Given the description of an element on the screen output the (x, y) to click on. 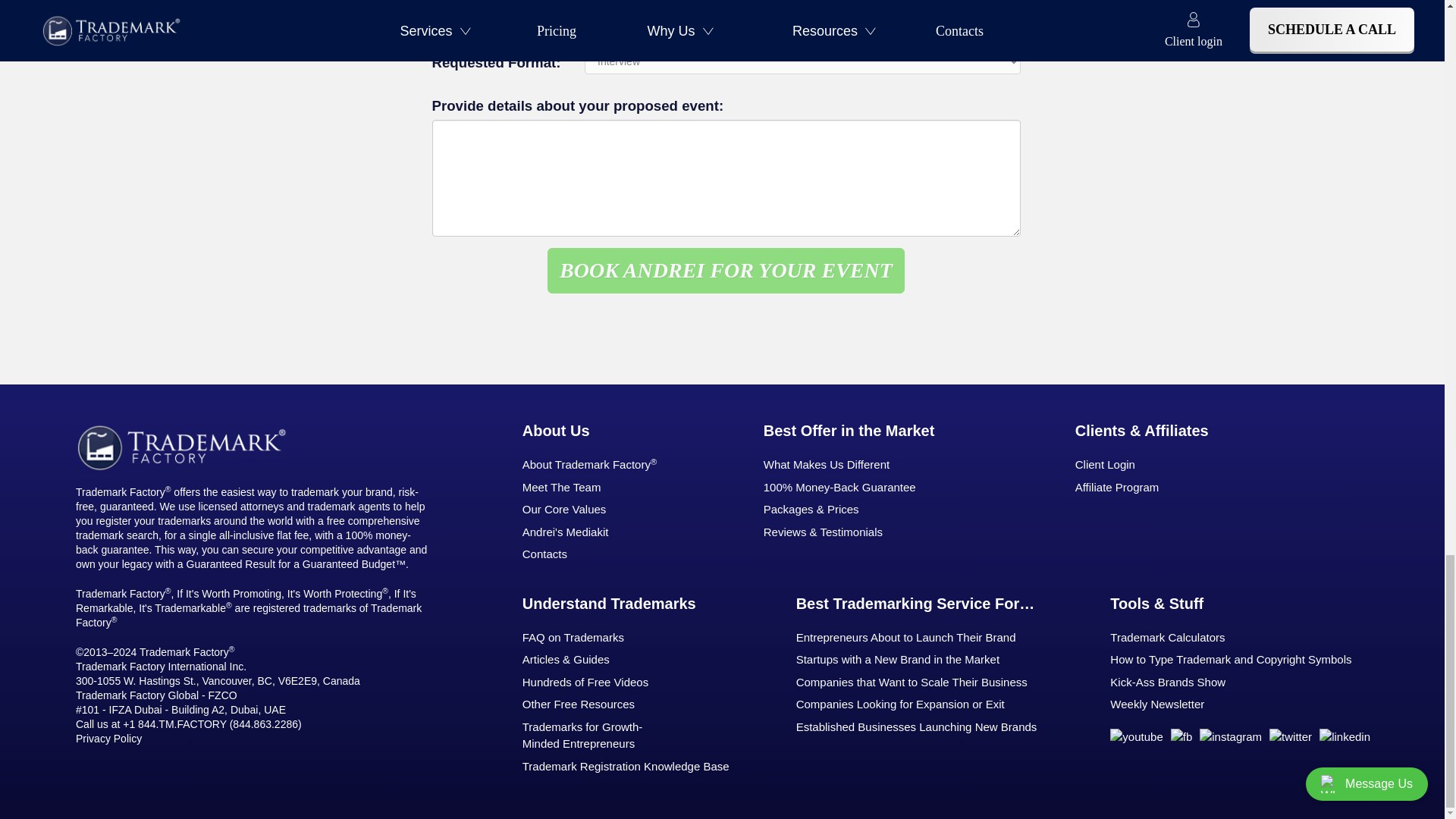
Privacy Policy (108, 738)
BOOK ANDREI FOR YOUR EVENT (725, 270)
Meet The Team (600, 487)
BOOK ANDREI FOR YOUR EVENT (725, 270)
